Given the description of an element on the screen output the (x, y) to click on. 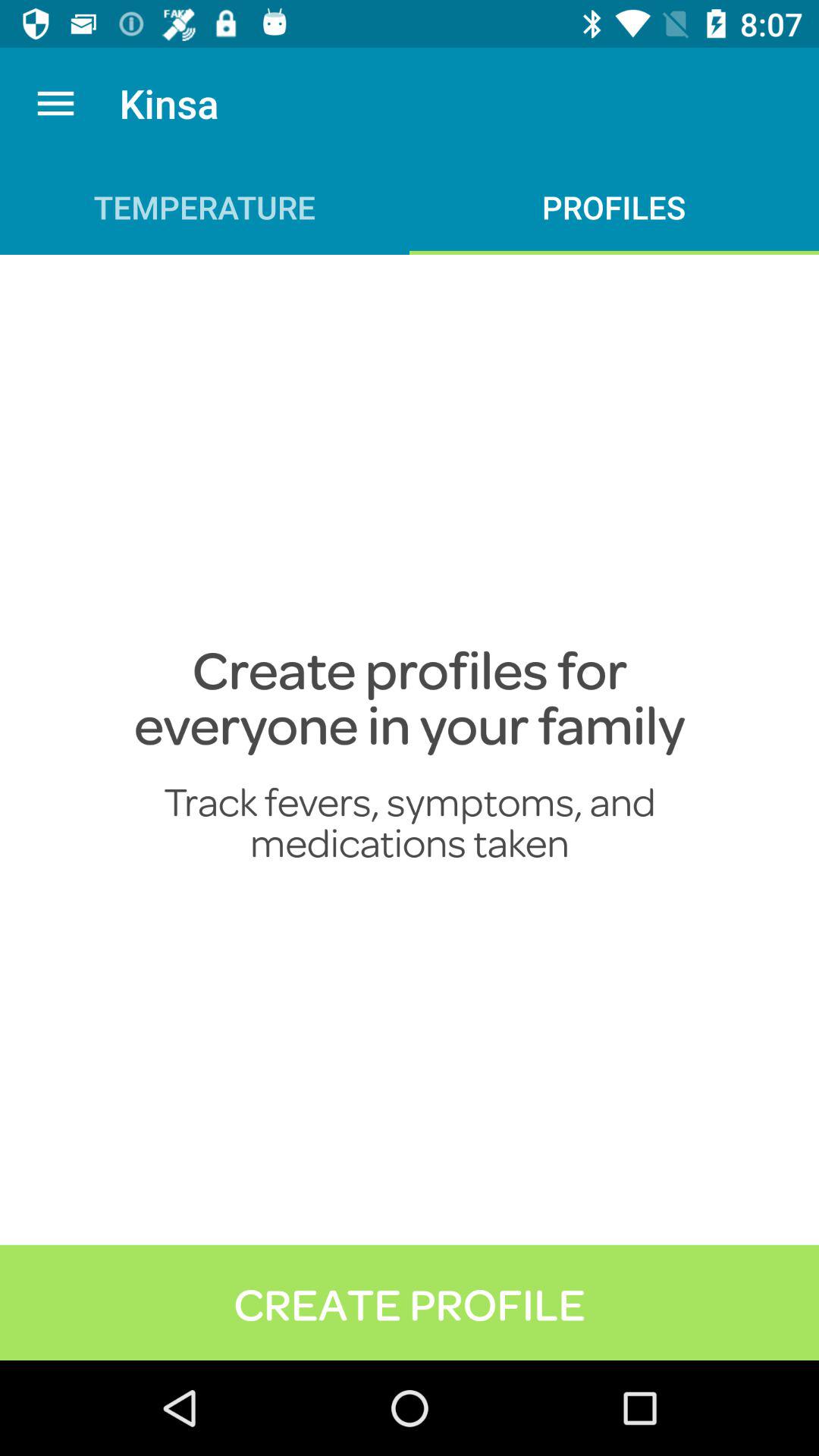
launch icon to the left of kinsa app (55, 103)
